Given the description of an element on the screen output the (x, y) to click on. 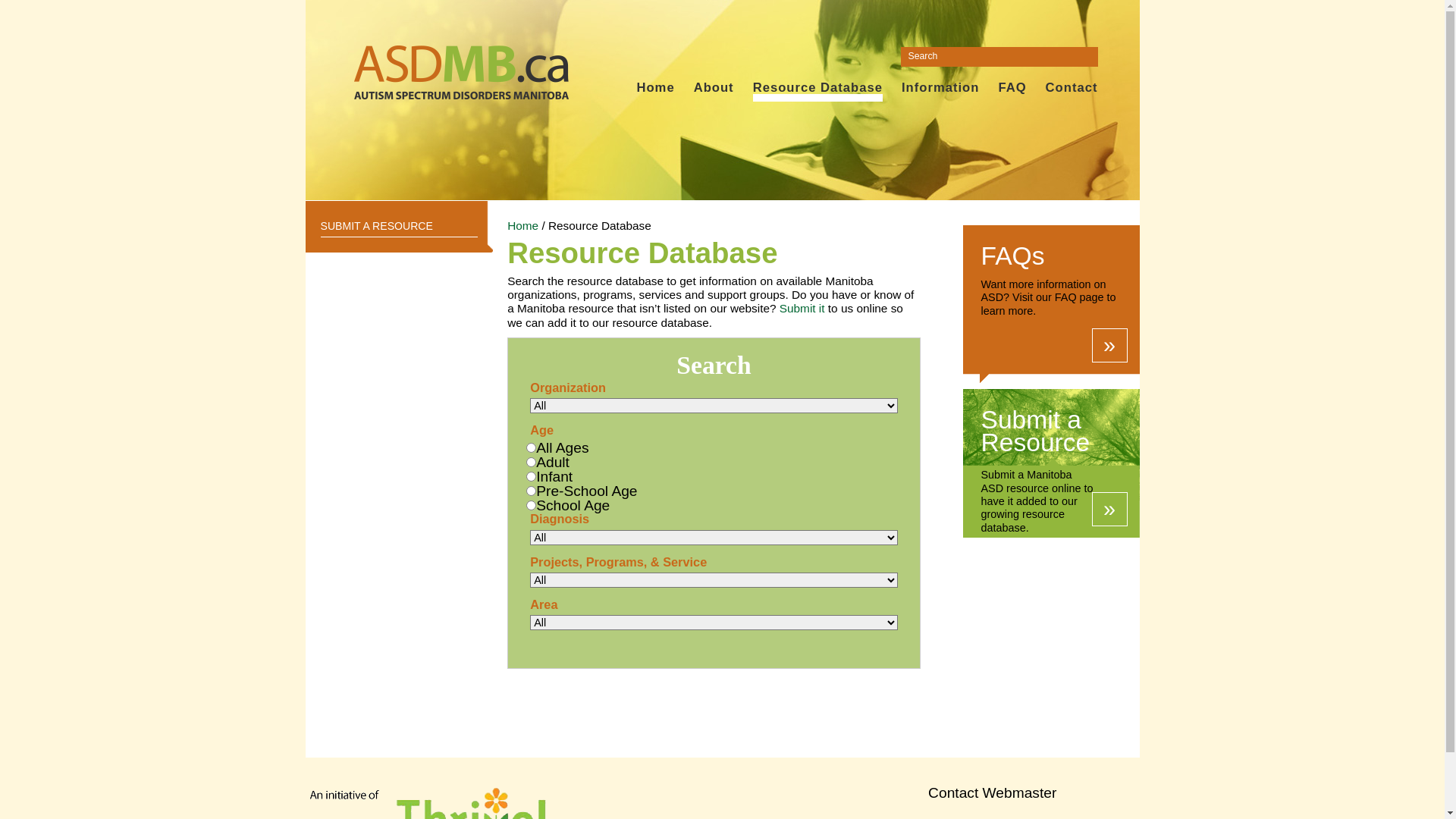
SUBMIT A RESOURCE Element type: text (398, 226)
About Element type: text (713, 87)
Search Element type: text (22, 9)
Contact Webmaster Element type: text (992, 792)
FAQ Element type: text (1011, 87)
Home Element type: text (655, 87)
Resource Database Element type: text (817, 87)
Information Element type: text (940, 87)
Home Element type: text (522, 225)
Submit it Element type: text (802, 307)
Contact Element type: text (1071, 87)
